Given the description of an element on the screen output the (x, y) to click on. 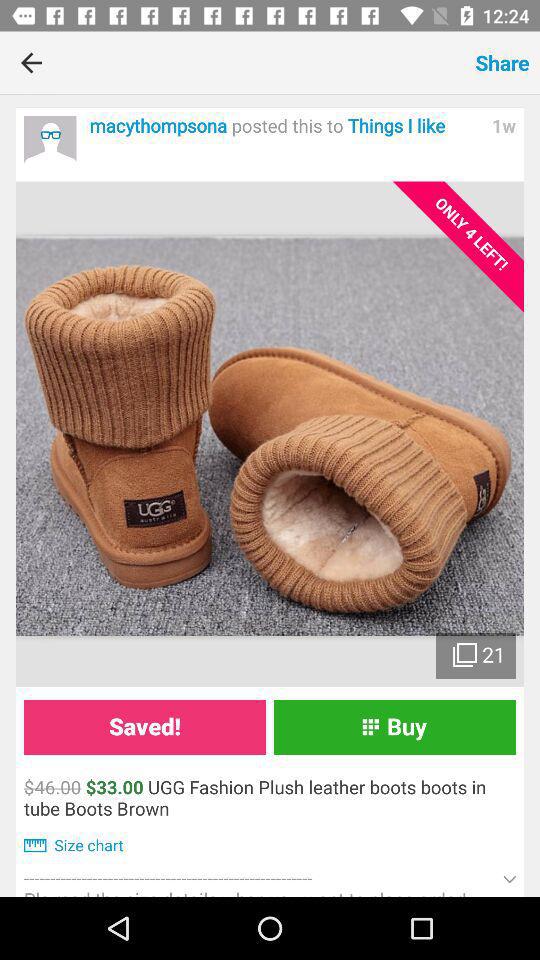
turn on the icon next to the 1w icon (285, 126)
